Given the description of an element on the screen output the (x, y) to click on. 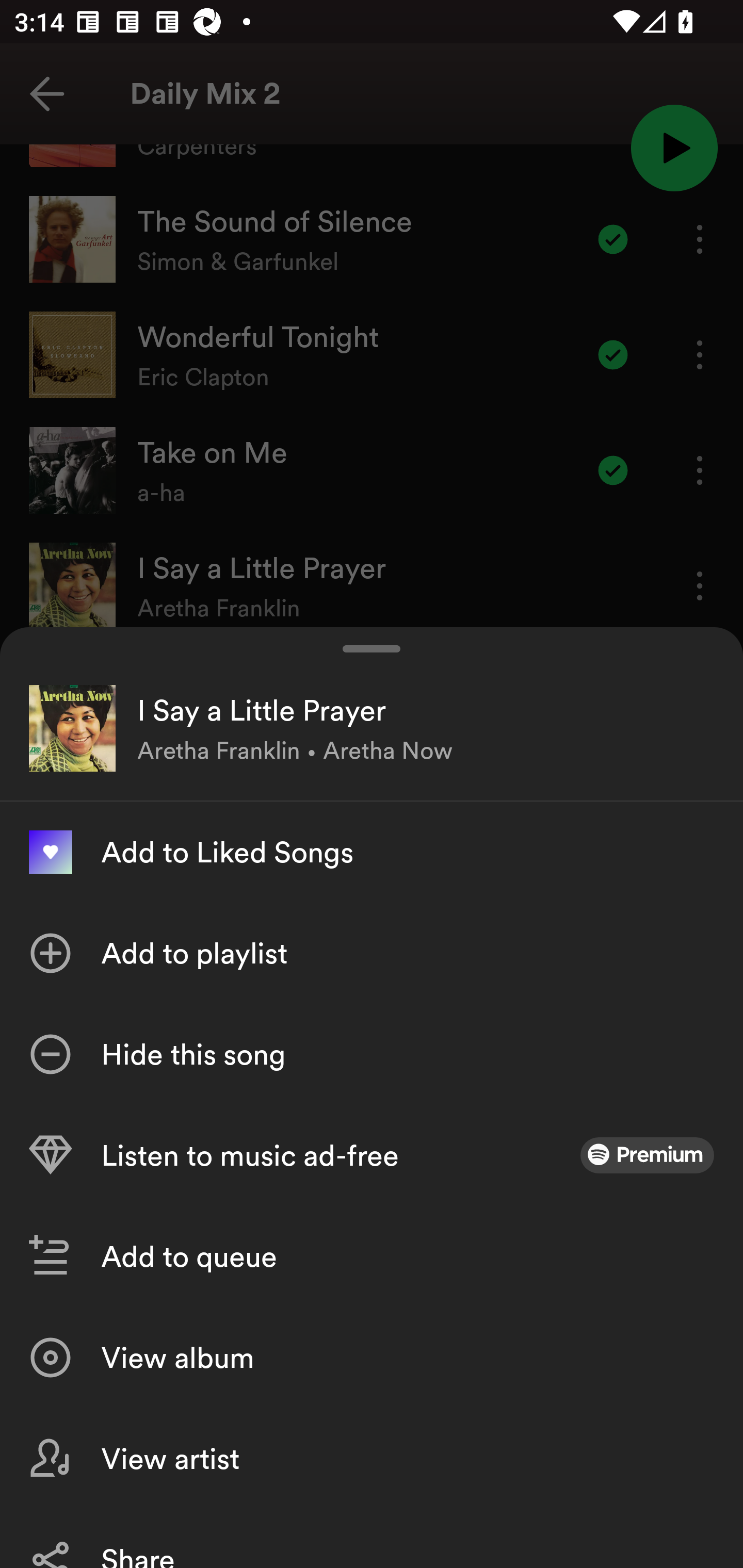
Add to Liked Songs (371, 852)
Add to playlist (371, 953)
Hide this song (371, 1054)
Listen to music ad-free (371, 1155)
Add to queue (371, 1256)
View album (371, 1357)
View artist (371, 1458)
Share (371, 1538)
